Given the description of an element on the screen output the (x, y) to click on. 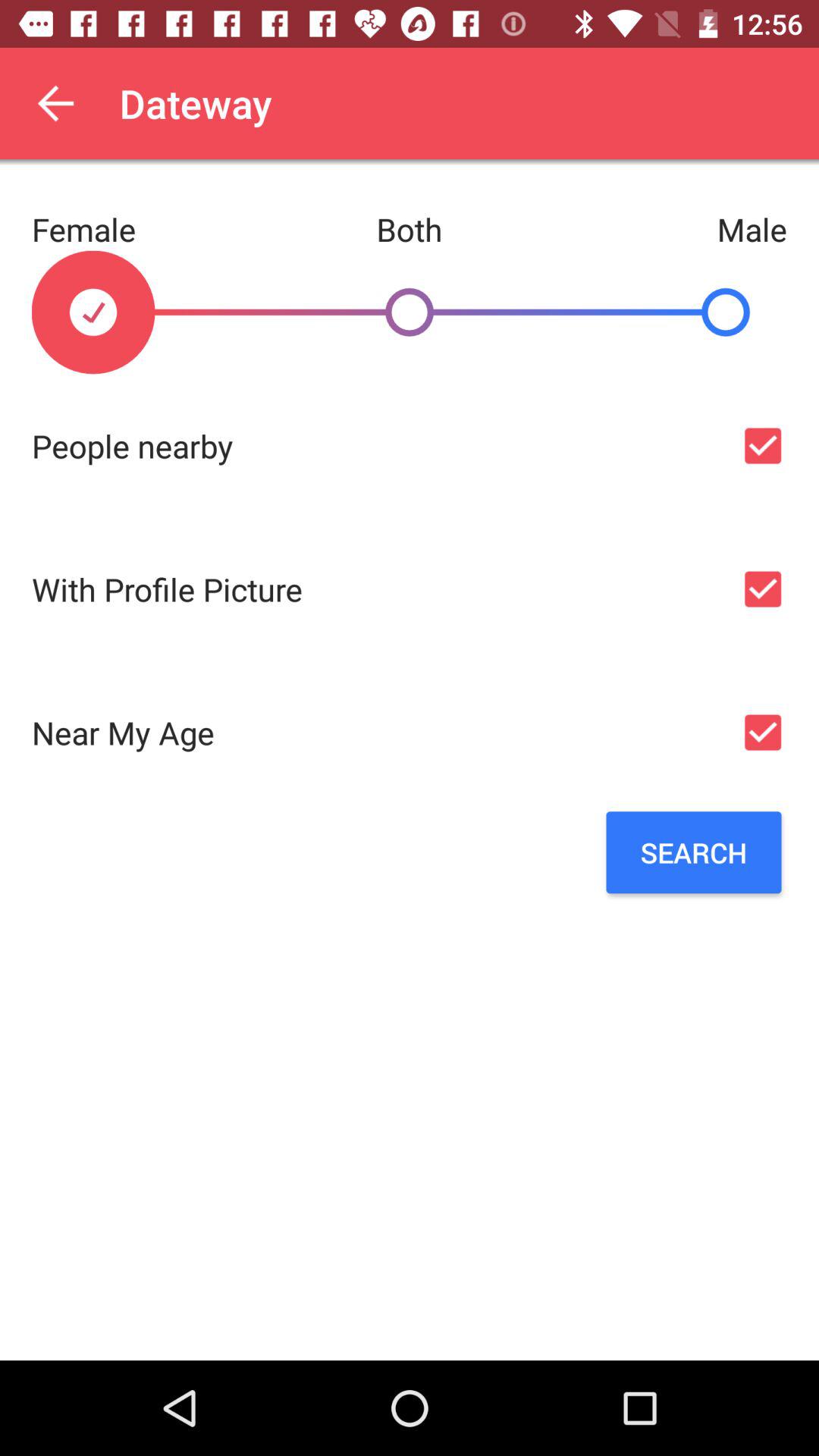
turn on app to the left of dateway app (55, 103)
